Given the description of an element on the screen output the (x, y) to click on. 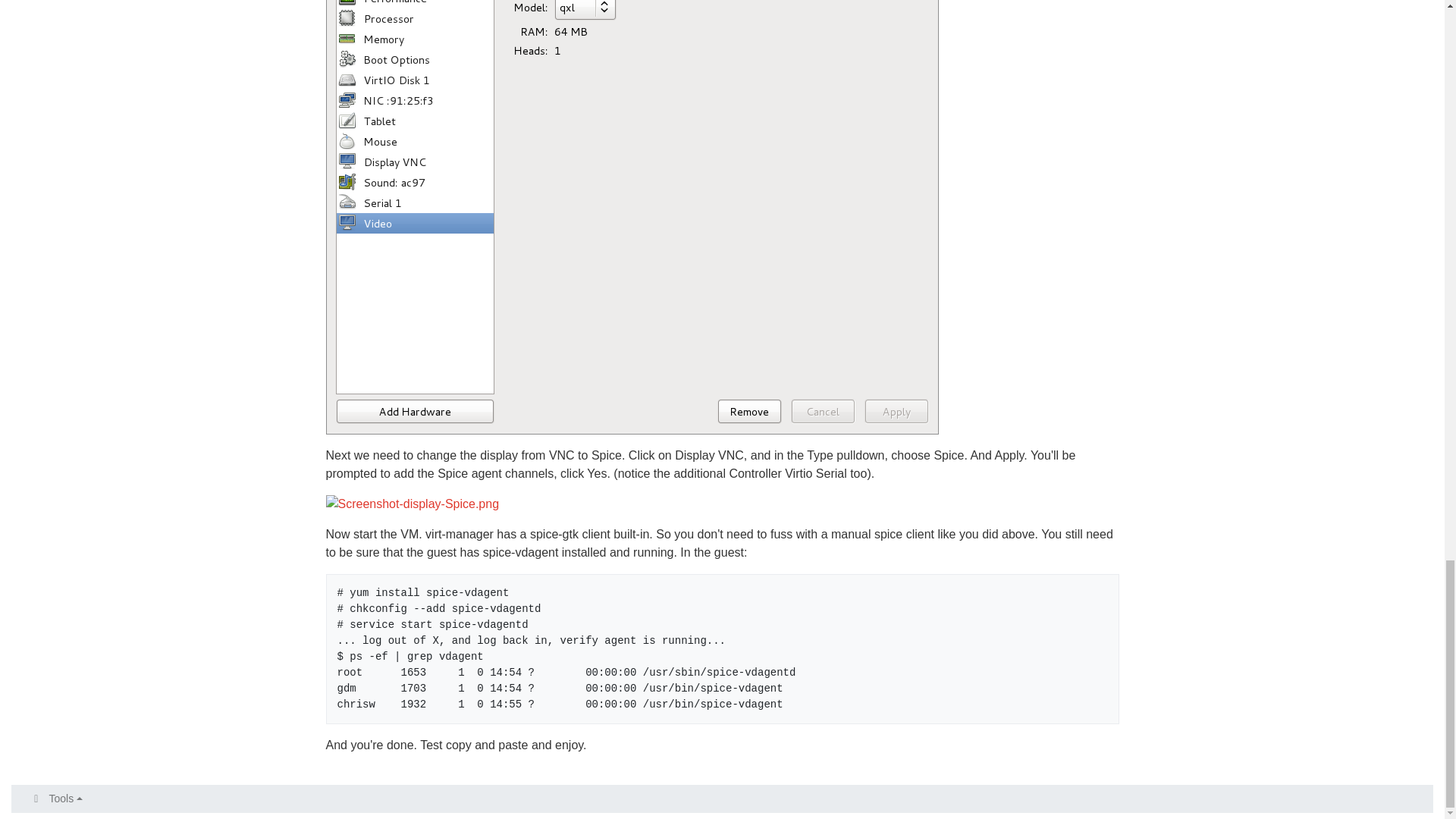
Tools (55, 798)
